Given the description of an element on the screen output the (x, y) to click on. 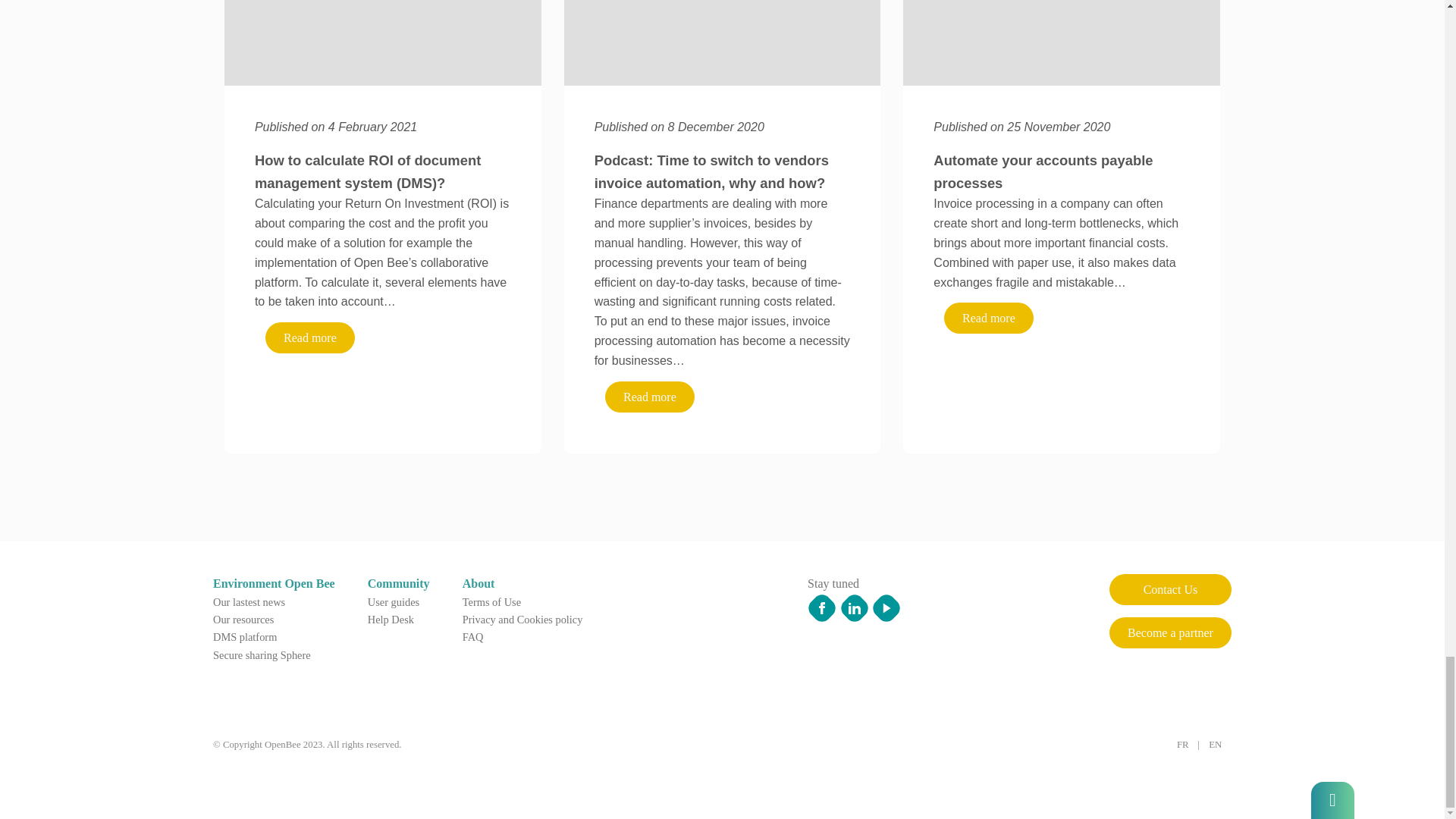
Read more (988, 317)
Our resources (242, 619)
Read more (309, 337)
User guides (393, 601)
Become a partner (1170, 632)
Contact Us (1170, 589)
Become a partner (1170, 632)
Our lastest news (248, 601)
Secure sharing Sphere (261, 654)
Privacy and Cookies policy (523, 619)
Contact Us (1170, 589)
FAQ (473, 636)
Community (398, 583)
Read more (988, 317)
Read more (649, 396)
